Given the description of an element on the screen output the (x, y) to click on. 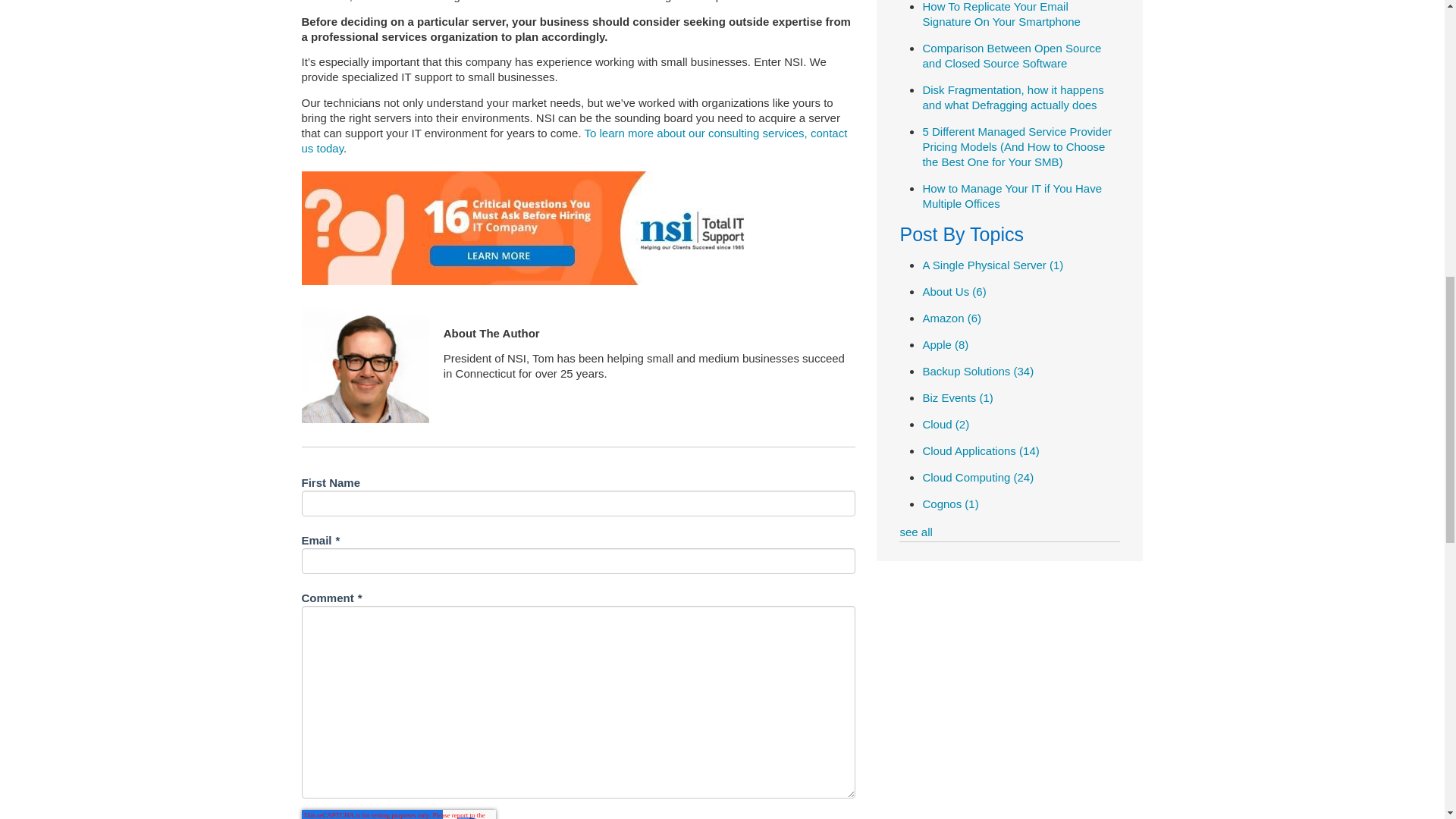
reCAPTCHA (398, 814)
How To Replicate Your Email Signature On Your Smartphone (1000, 13)
How to Manage Your IT if You Have Multiple Offices (1011, 195)
Comparison Between Open Source and Closed Source Software (1010, 55)
